Given the description of an element on the screen output the (x, y) to click on. 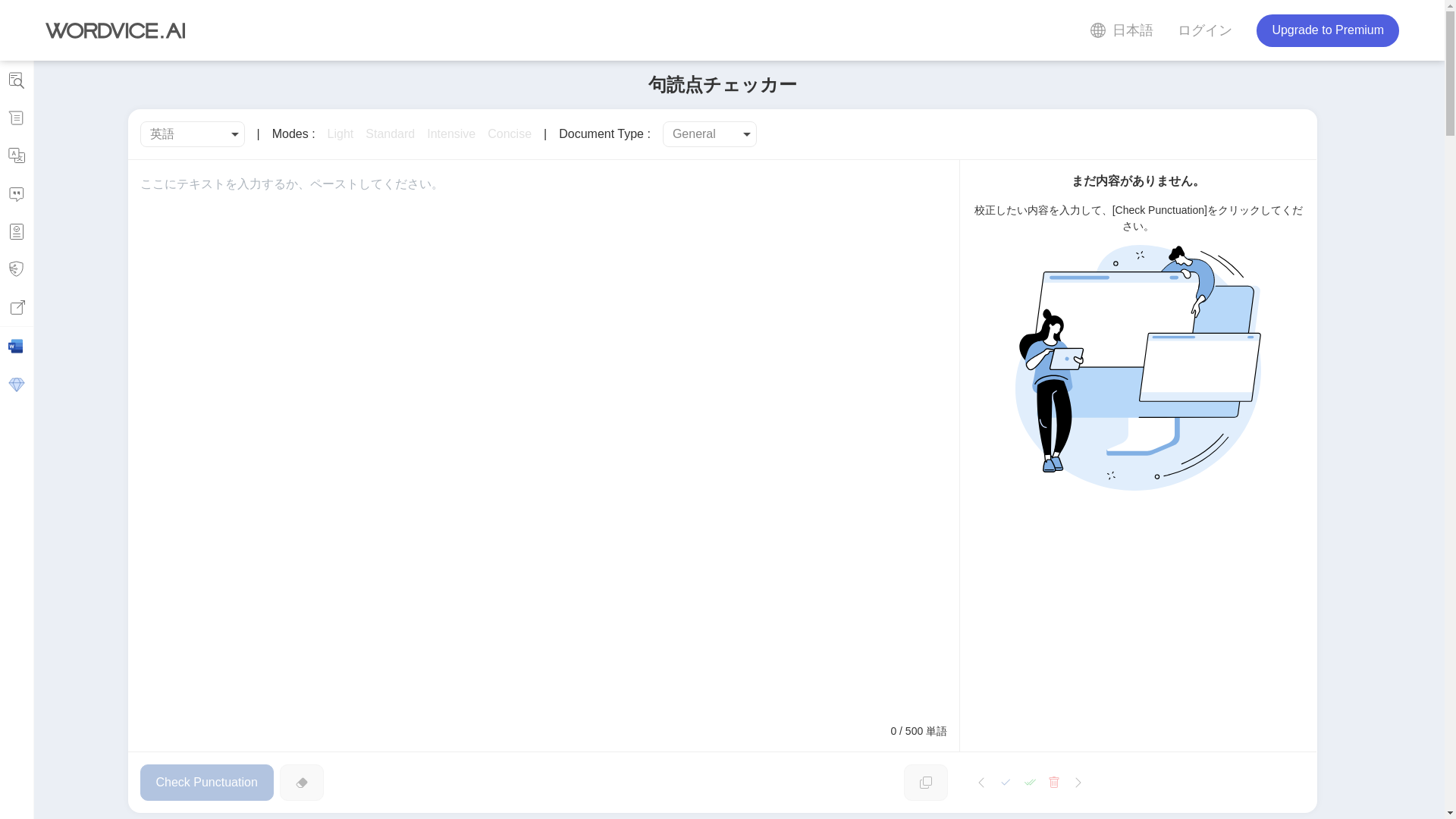
Intensive (451, 134)
Standard (389, 134)
Light (340, 134)
Upgrade to Premium (1327, 29)
